Given the description of an element on the screen output the (x, y) to click on. 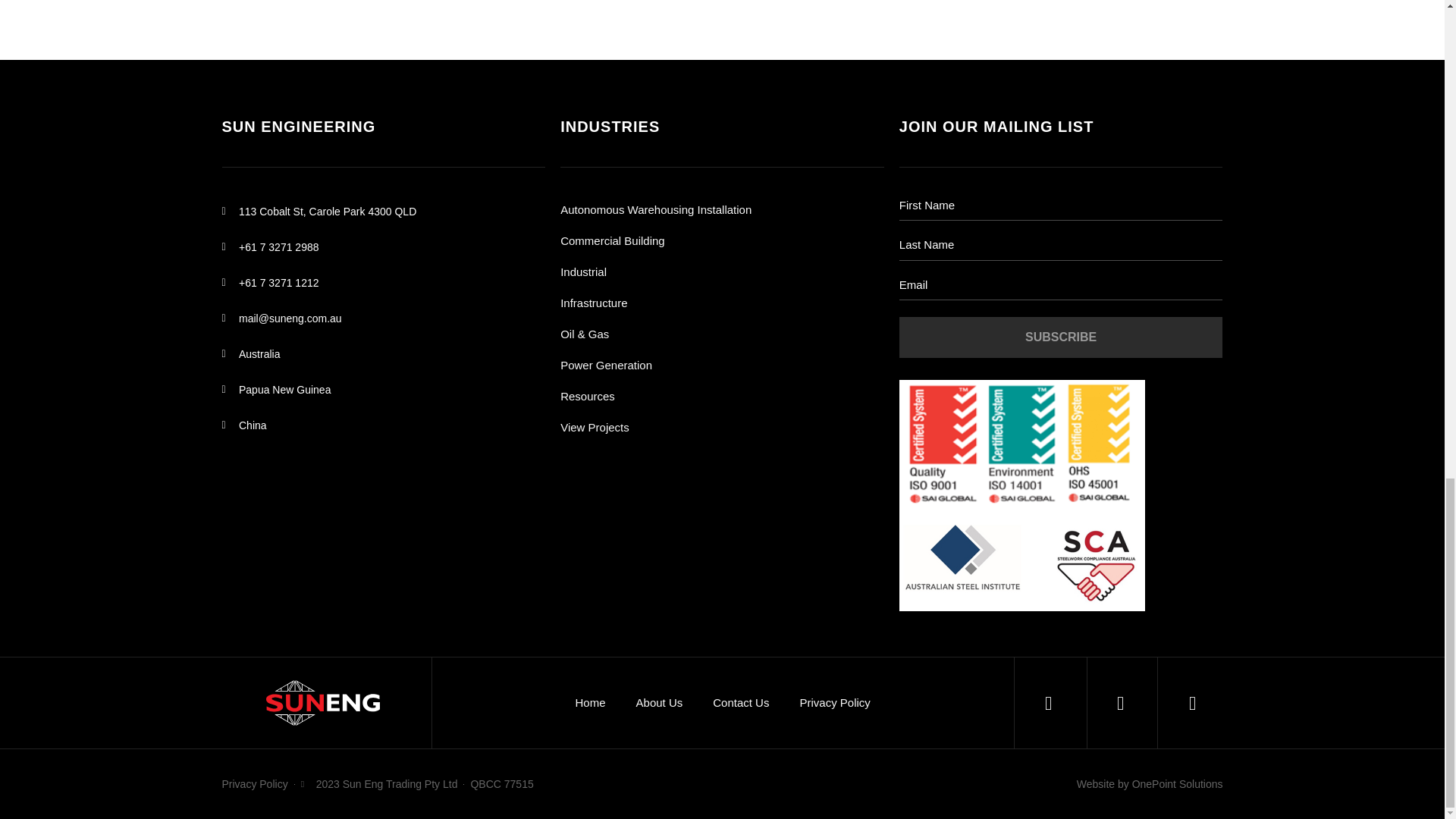
Subscribe (1061, 336)
113 Cobalt St, Carole Park 4300 QLD (382, 211)
